Given the description of an element on the screen output the (x, y) to click on. 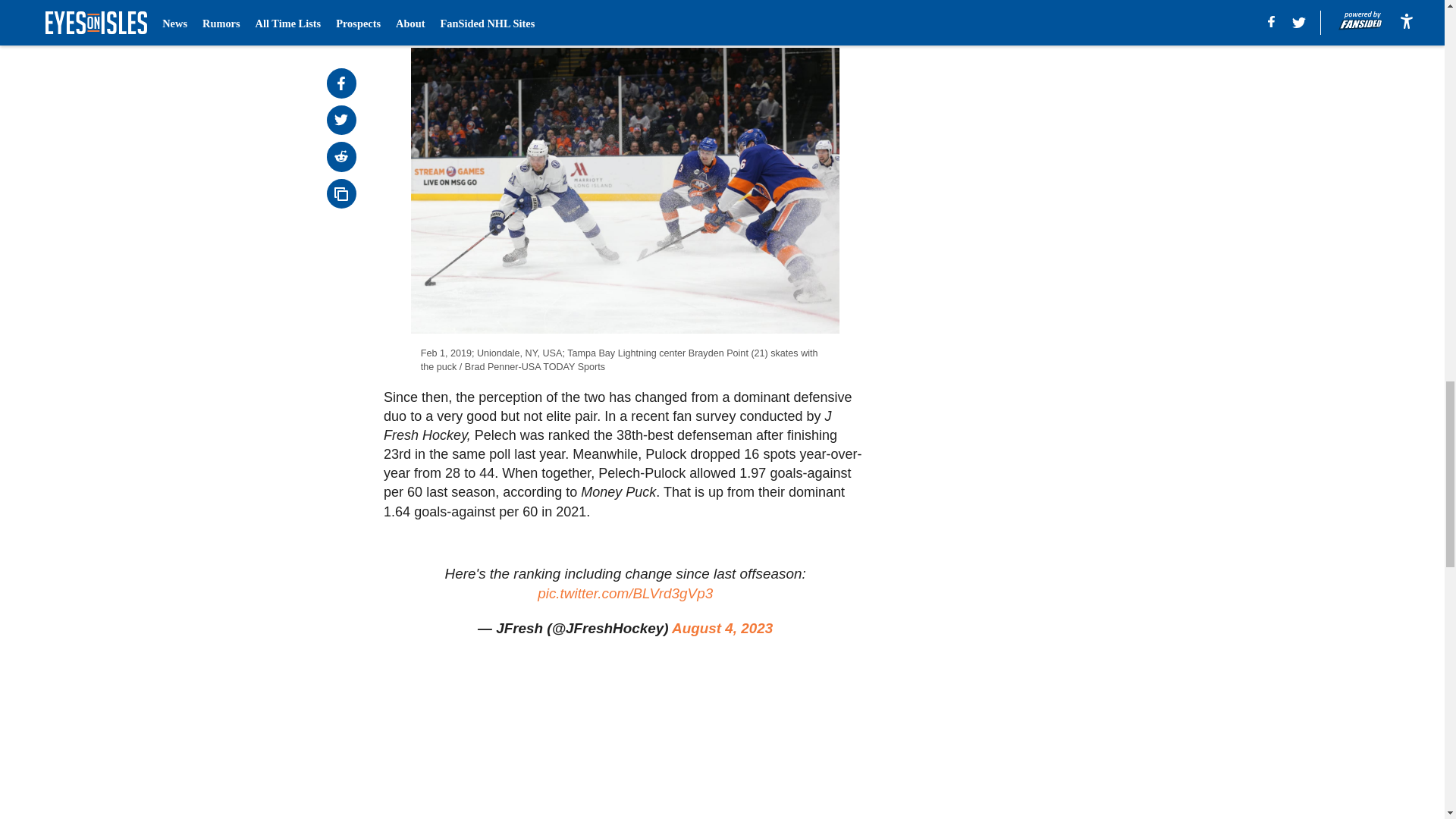
August 4, 2023 (722, 627)
